Given the description of an element on the screen output the (x, y) to click on. 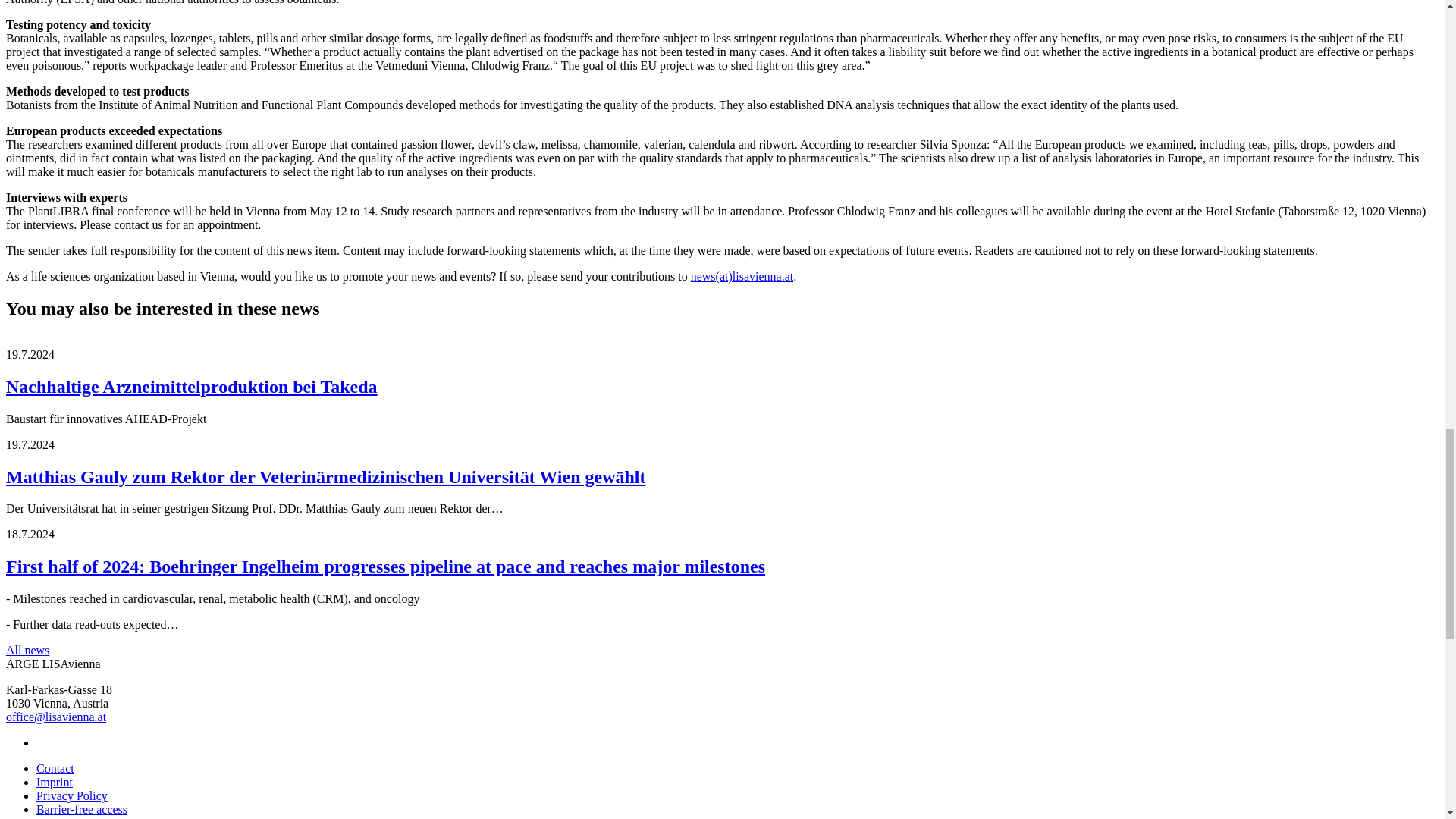
Contact (55, 768)
All news (27, 649)
Nachhaltige Arzneimittelproduktion bei Takeda (191, 386)
